Given the description of an element on the screen output the (x, y) to click on. 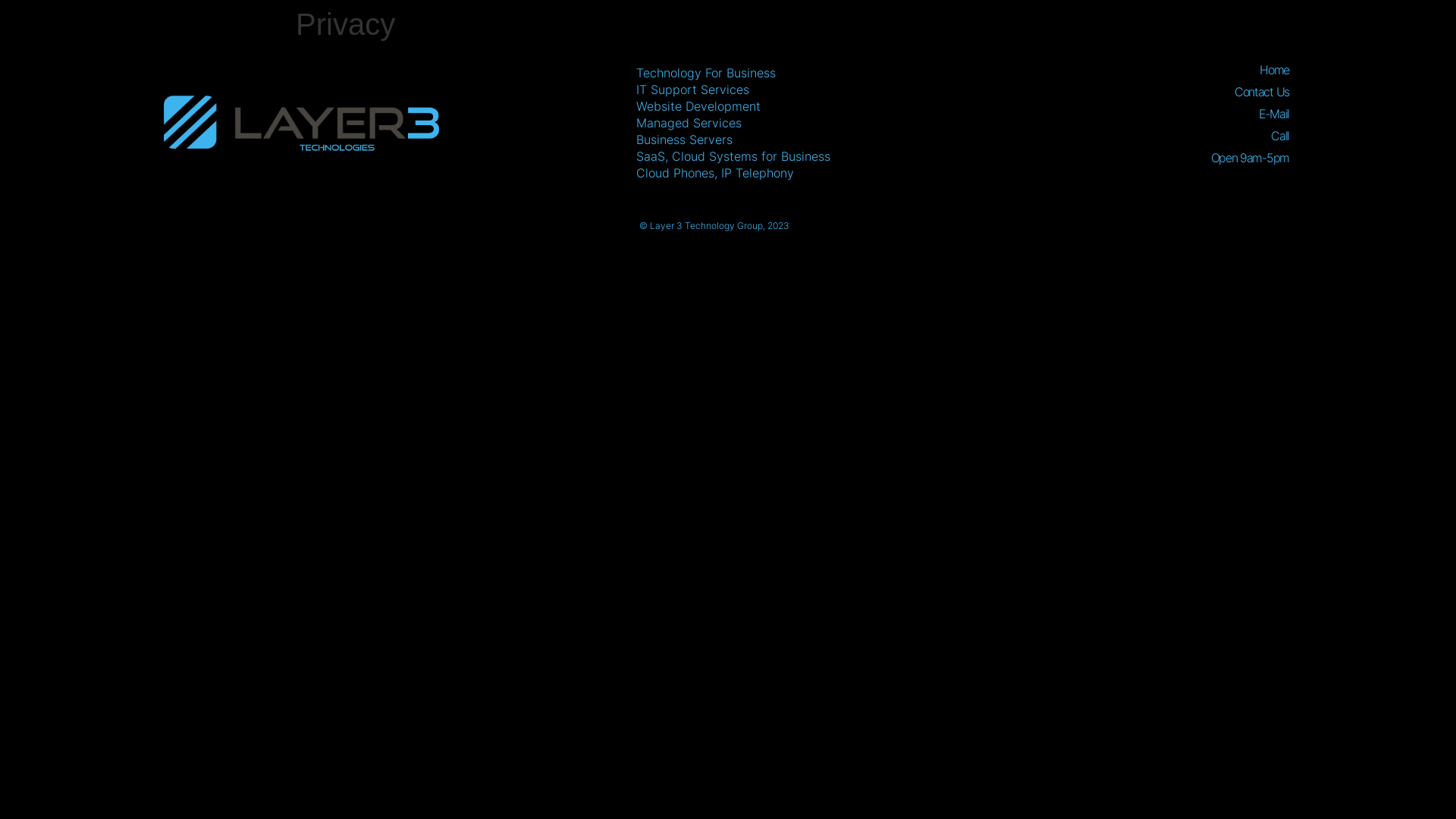
E-Mail Element type: text (1090, 114)
Call Element type: text (1090, 136)
Home Element type: text (1090, 70)
